Given the description of an element on the screen output the (x, y) to click on. 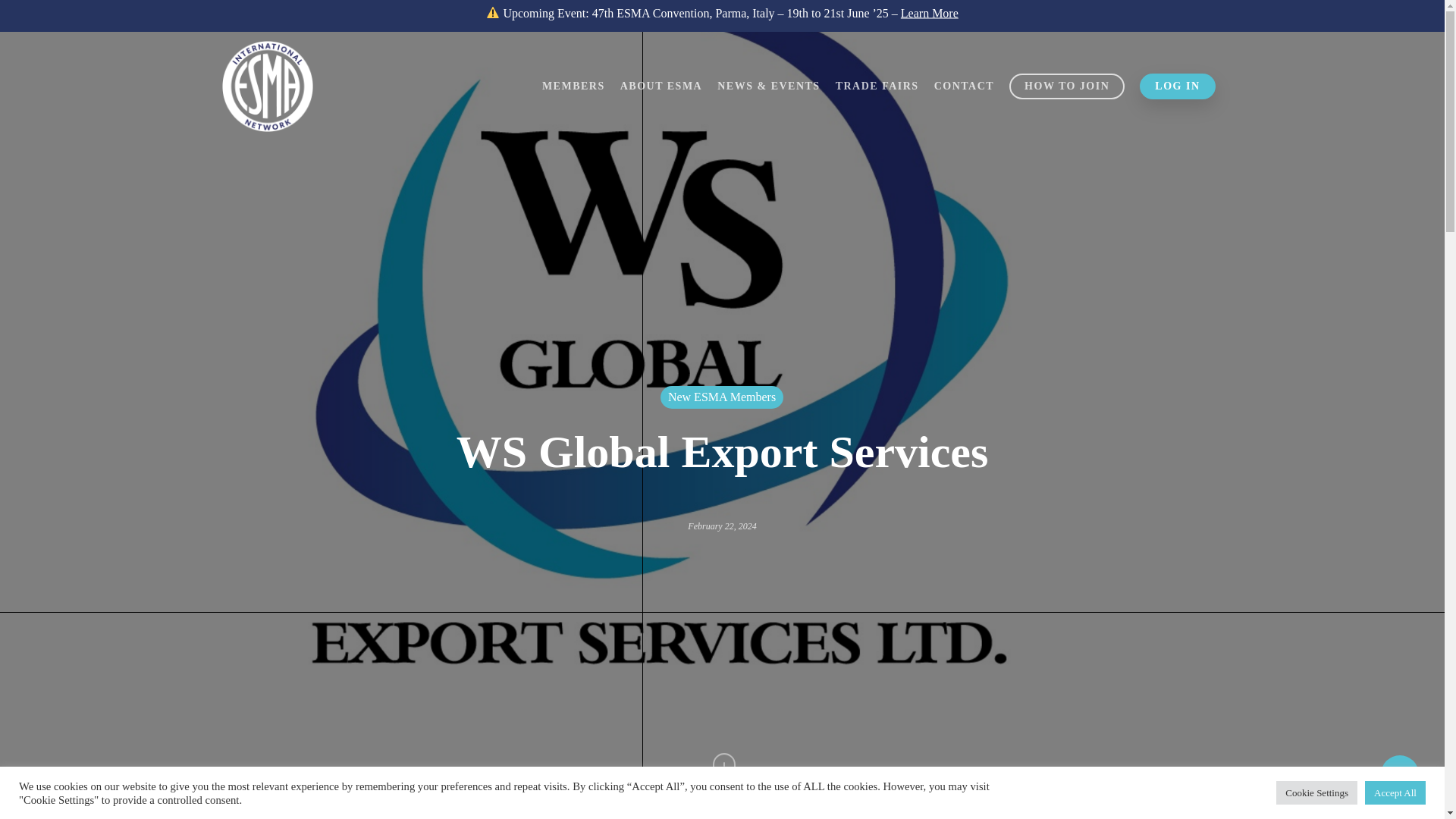
HOW TO JOIN (1066, 86)
MEMBERS (573, 86)
TRADE FAIRS (876, 86)
New ESMA Members (722, 396)
ABOUT ESMA (660, 86)
CONTACT (964, 86)
LOG IN (1177, 86)
